Given the description of an element on the screen output the (x, y) to click on. 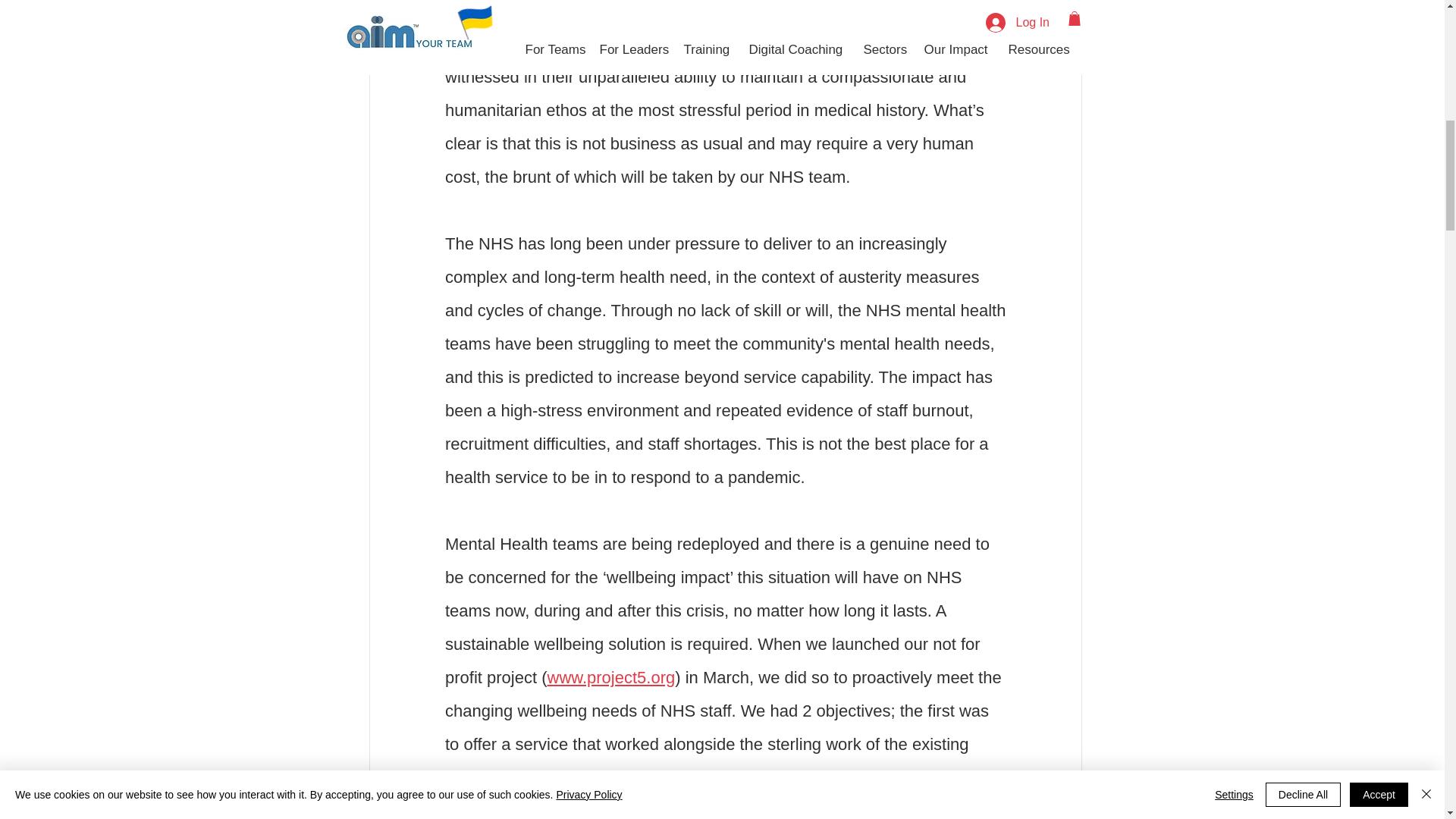
www.project5.org (611, 676)
